Given the description of an element on the screen output the (x, y) to click on. 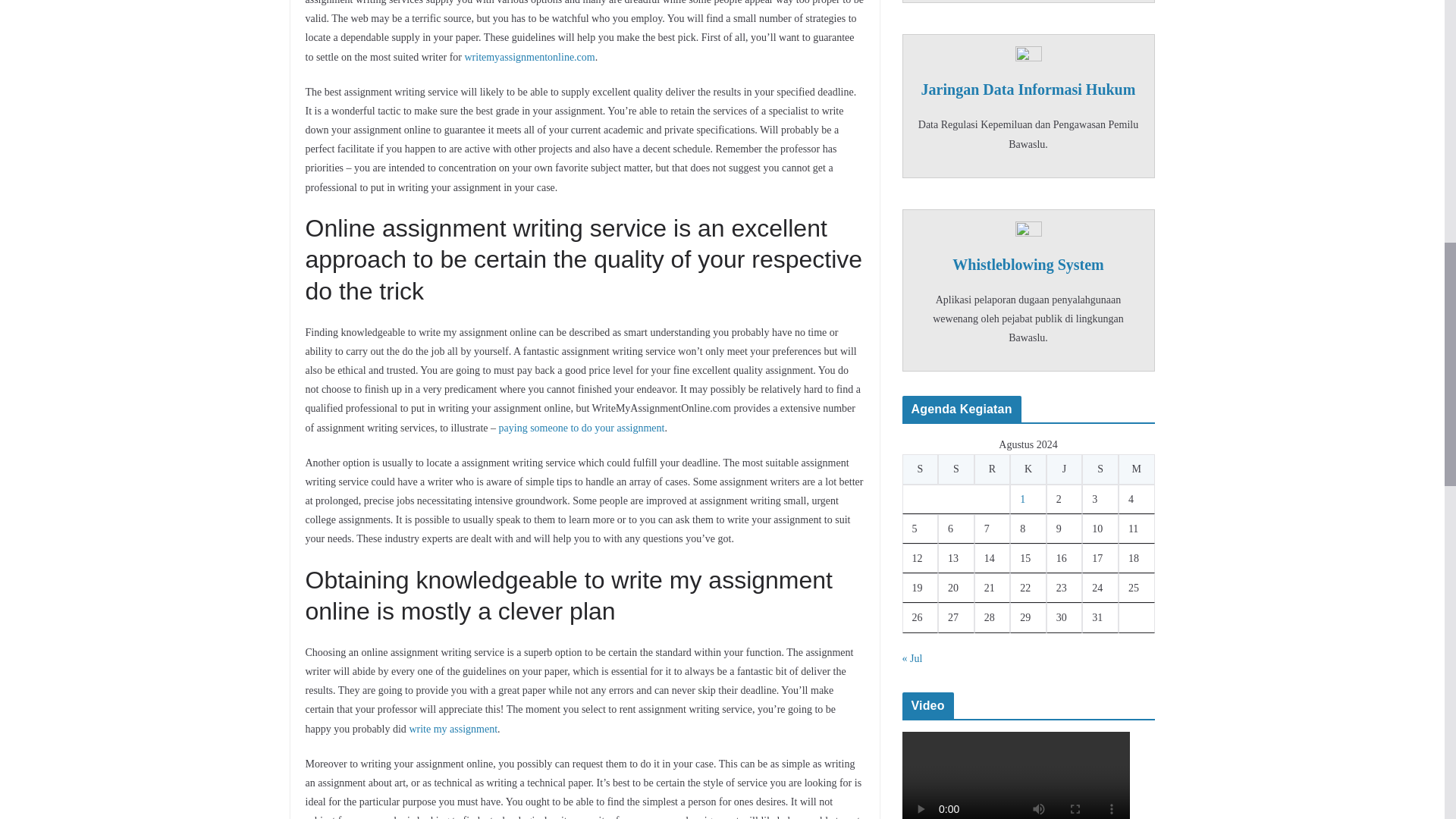
Kamis (1028, 469)
Senin (920, 469)
Sabtu (1099, 469)
Selasa (955, 469)
Jumat (1064, 469)
Minggu (1136, 469)
Rabu (992, 469)
writemyassignmentonline.com (529, 57)
